Given the description of an element on the screen output the (x, y) to click on. 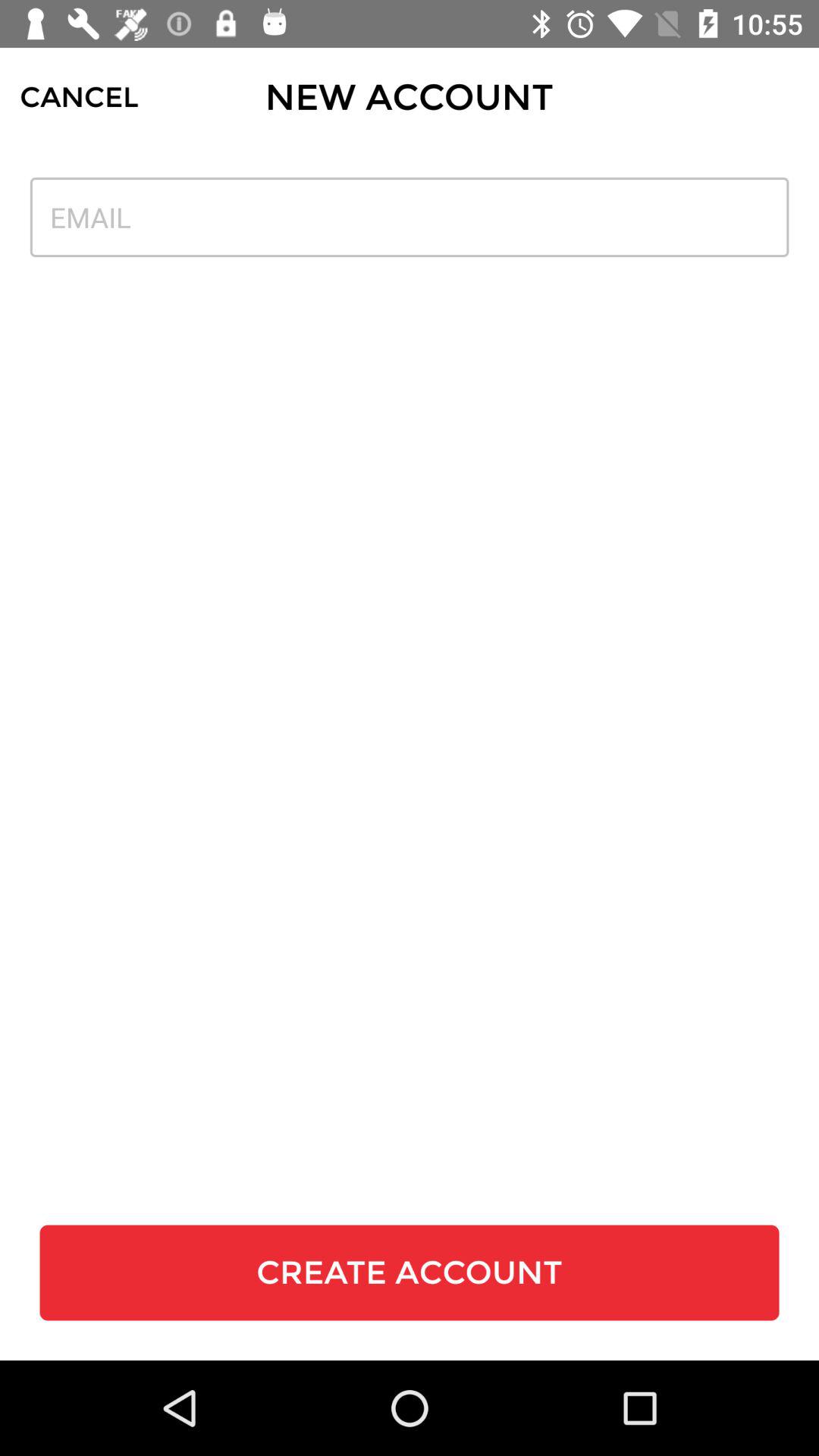
press the cancel (78, 97)
